Given the description of an element on the screen output the (x, y) to click on. 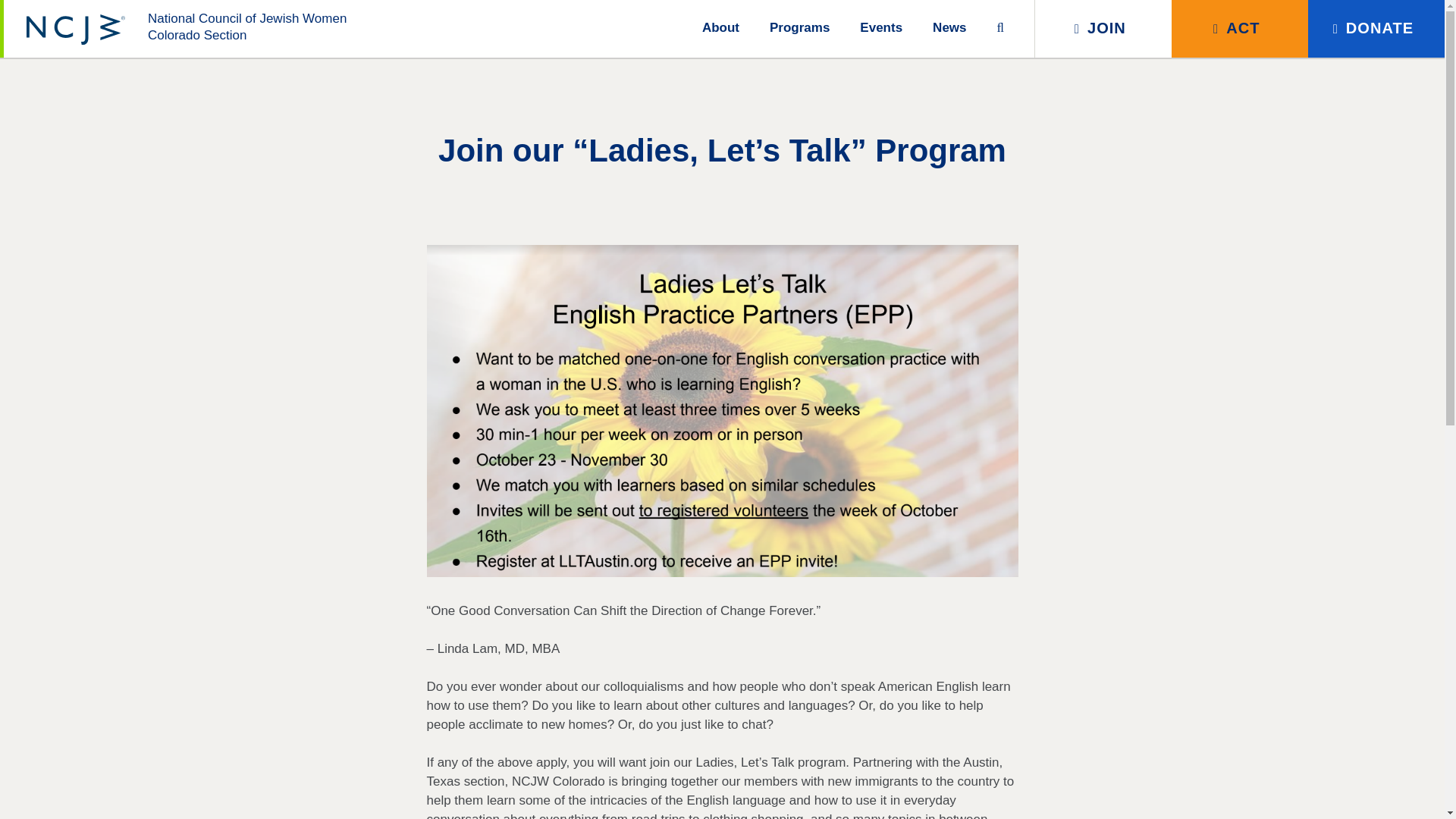
Events (881, 26)
JOIN (186, 28)
Programs (1103, 28)
ACT (799, 26)
News (1239, 28)
About (949, 26)
